Given the description of an element on the screen output the (x, y) to click on. 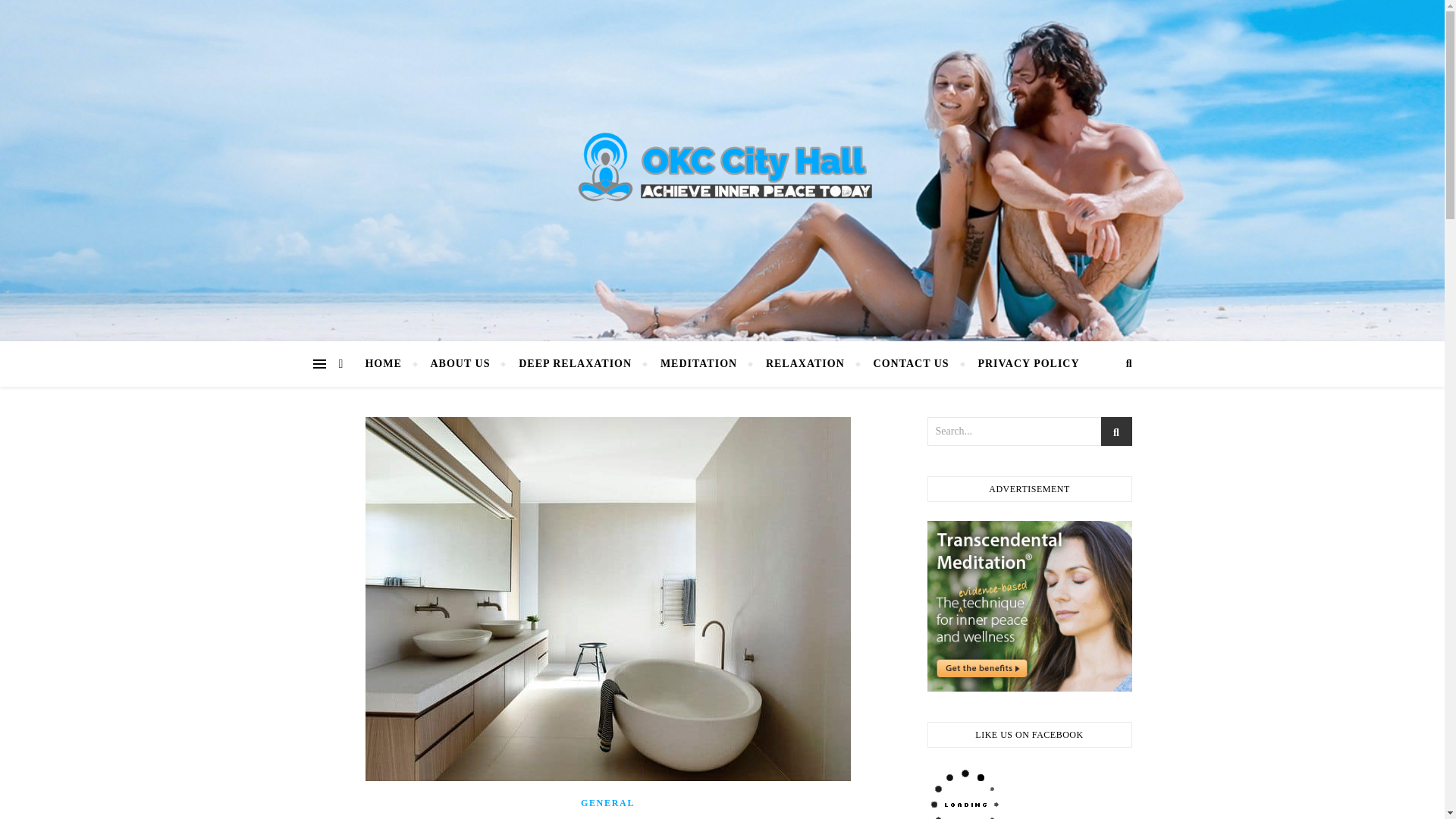
DEEP RELAXATION (575, 363)
PRIVACY POLICY (1020, 363)
GENERAL (607, 802)
MEDITATION (698, 363)
HOME (389, 363)
ABOUT US (459, 363)
CONTACT US (911, 363)
RELAXATION (804, 363)
